Given the description of an element on the screen output the (x, y) to click on. 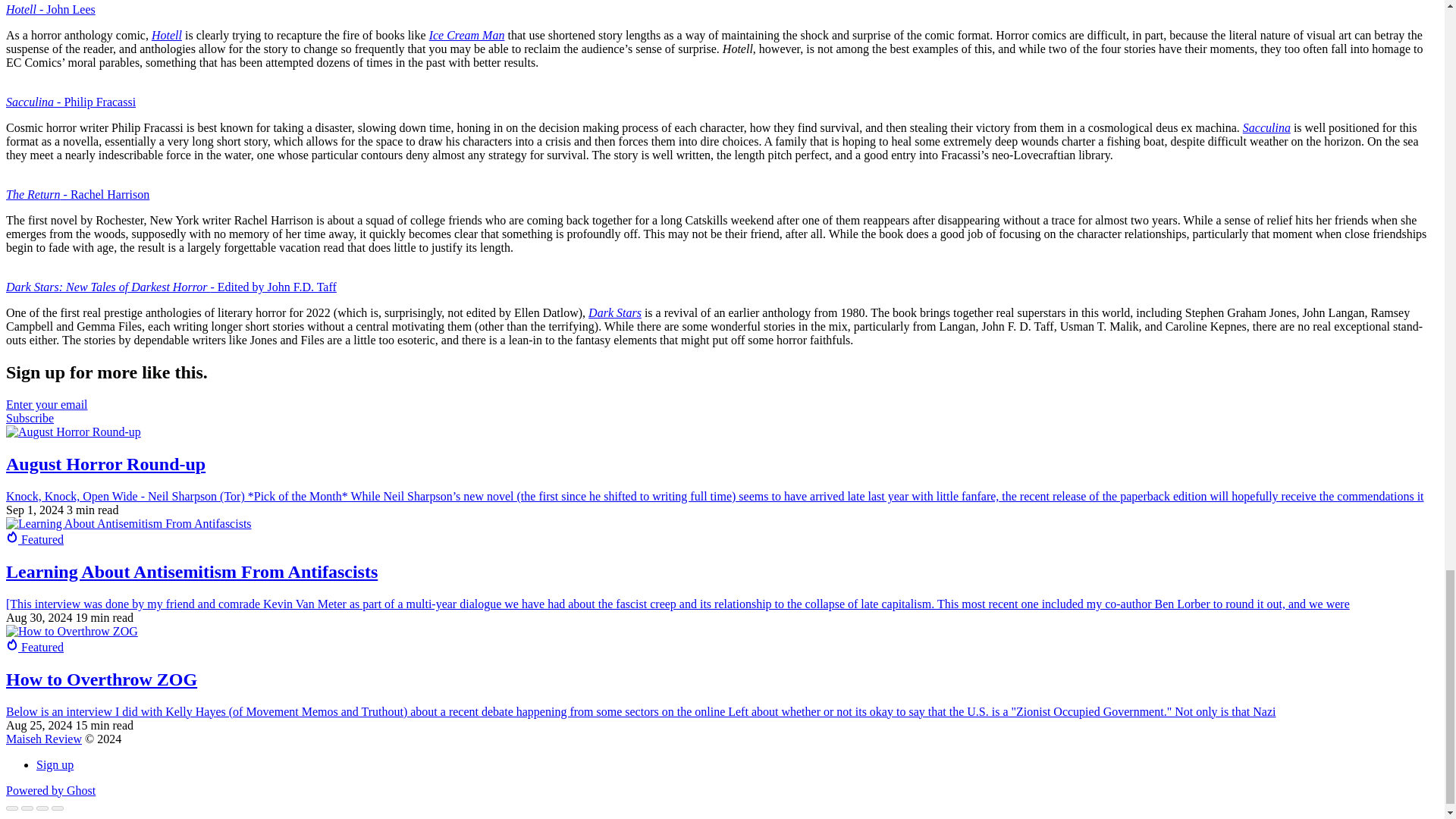
Dark Stars (615, 312)
Share (27, 807)
The Return - Rachel Harrison (77, 194)
Hotell - John Lees (50, 9)
Ice Cream Man (467, 34)
Maiseh Review (43, 738)
Sacculina - Philip Fracassi (70, 101)
Sign up (55, 764)
Powered by Ghost (50, 789)
